Given the description of an element on the screen output the (x, y) to click on. 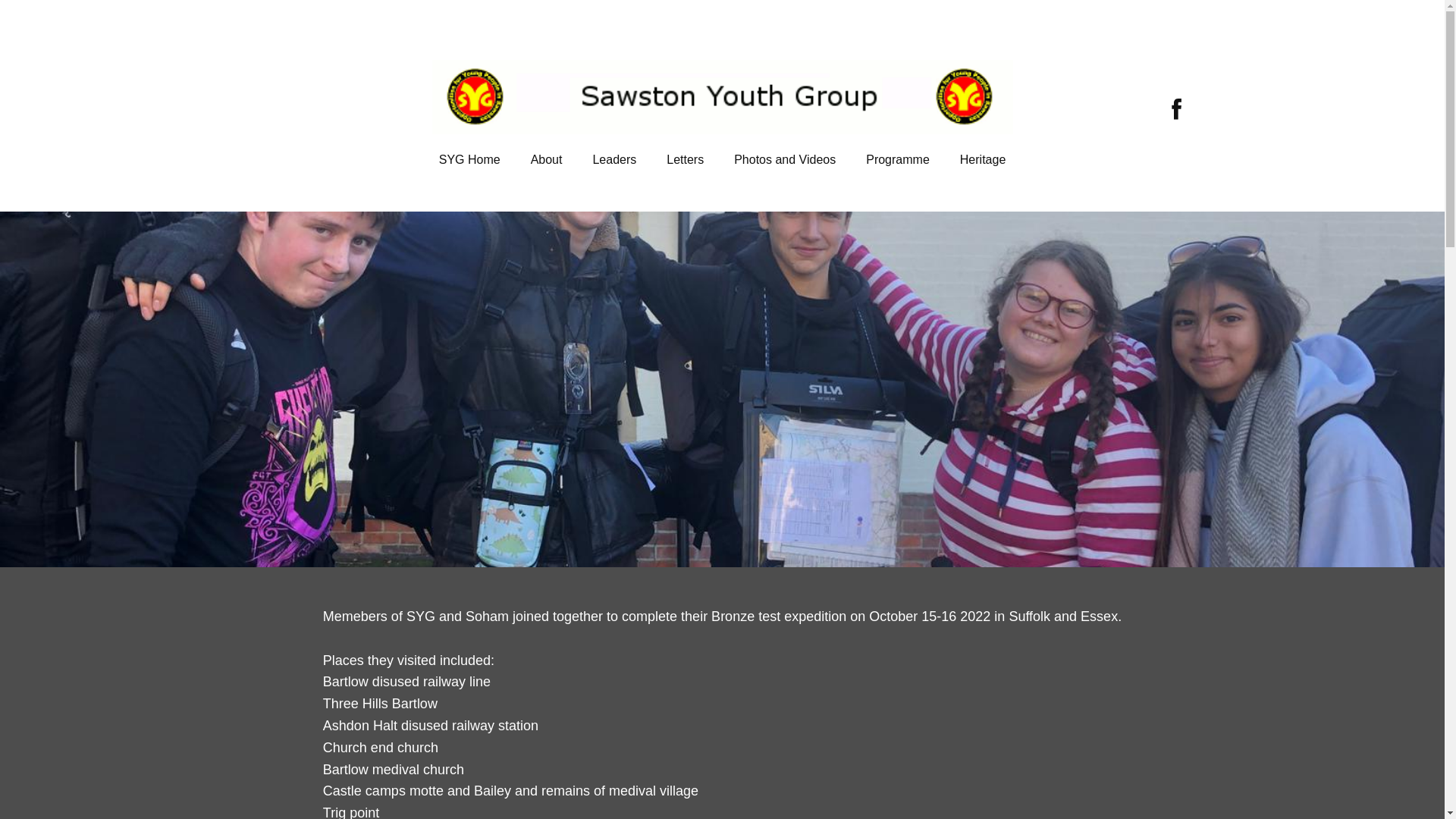
Photos and Videos (784, 159)
About (546, 159)
Sawston Youth Group (1176, 108)
SYG Home (469, 159)
Letters (684, 159)
Programme (897, 159)
Heritage (982, 159)
Leaders (613, 159)
